Given the description of an element on the screen output the (x, y) to click on. 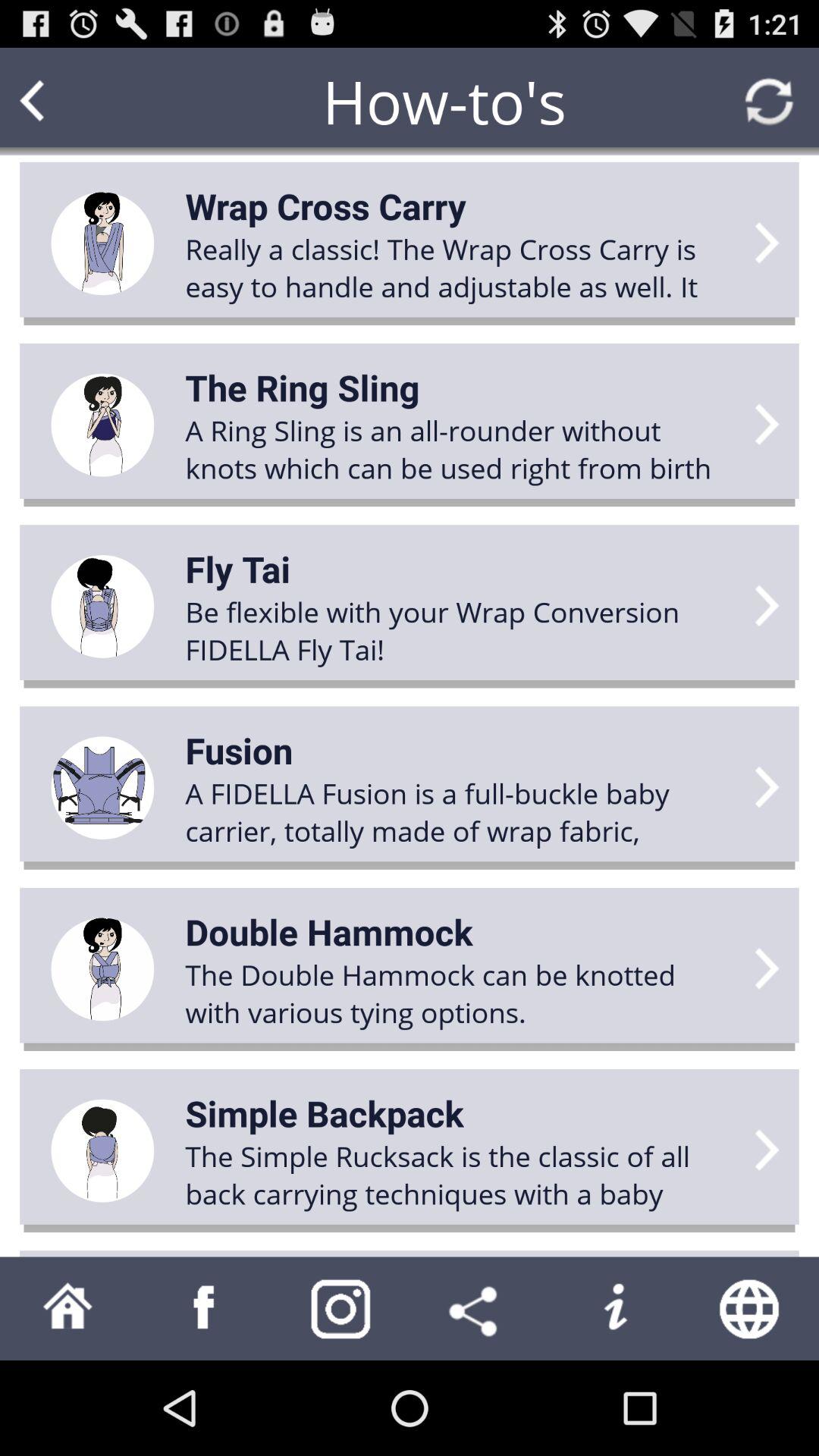
turn off the the simple rucksack icon (460, 1174)
